Given the description of an element on the screen output the (x, y) to click on. 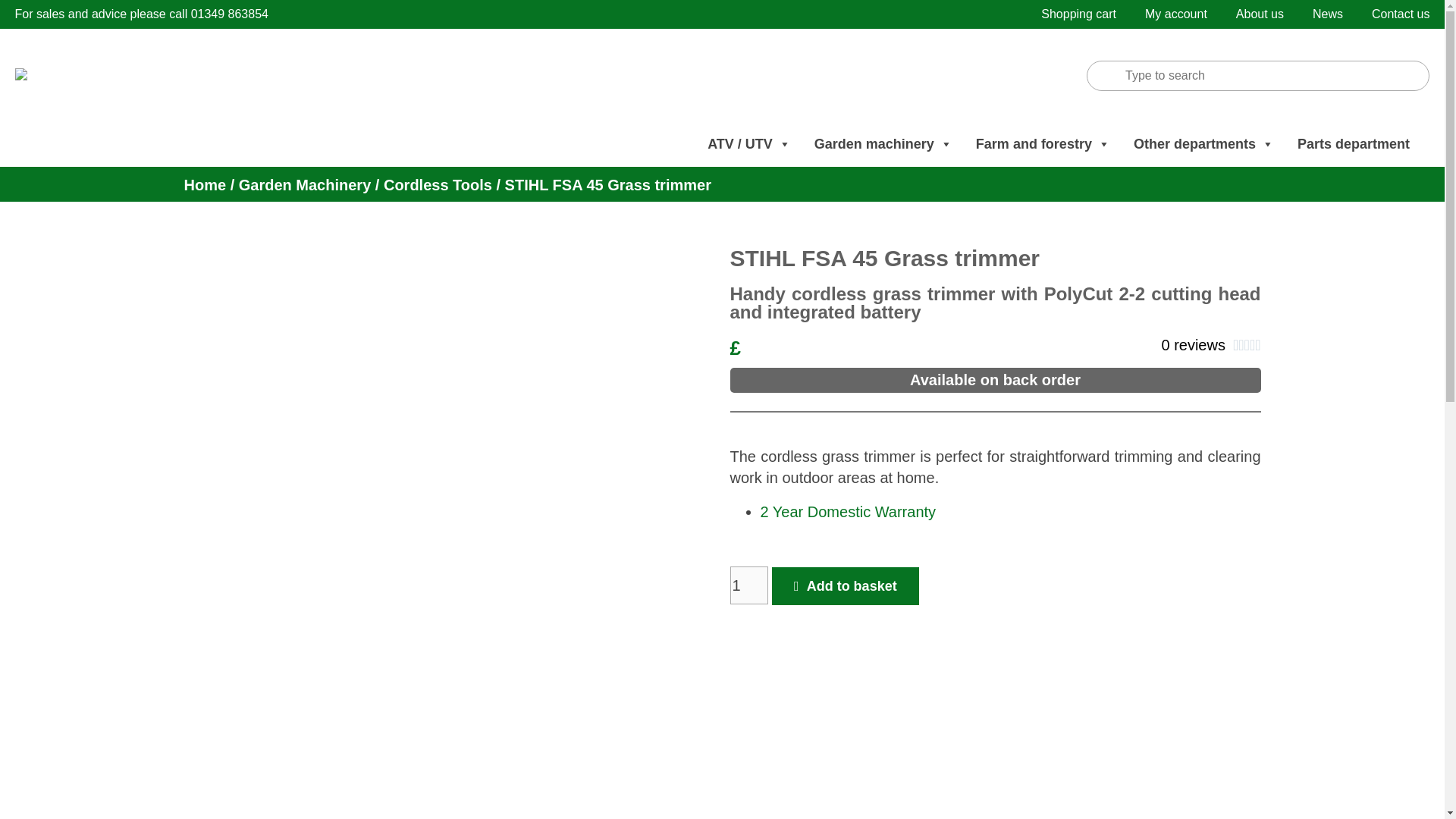
Qty (748, 585)
1 (748, 585)
Contact us (1400, 13)
News (1327, 13)
Garden machinery (883, 144)
Shopping cart (1078, 13)
About us (1260, 13)
My account (1175, 13)
